Given the description of an element on the screen output the (x, y) to click on. 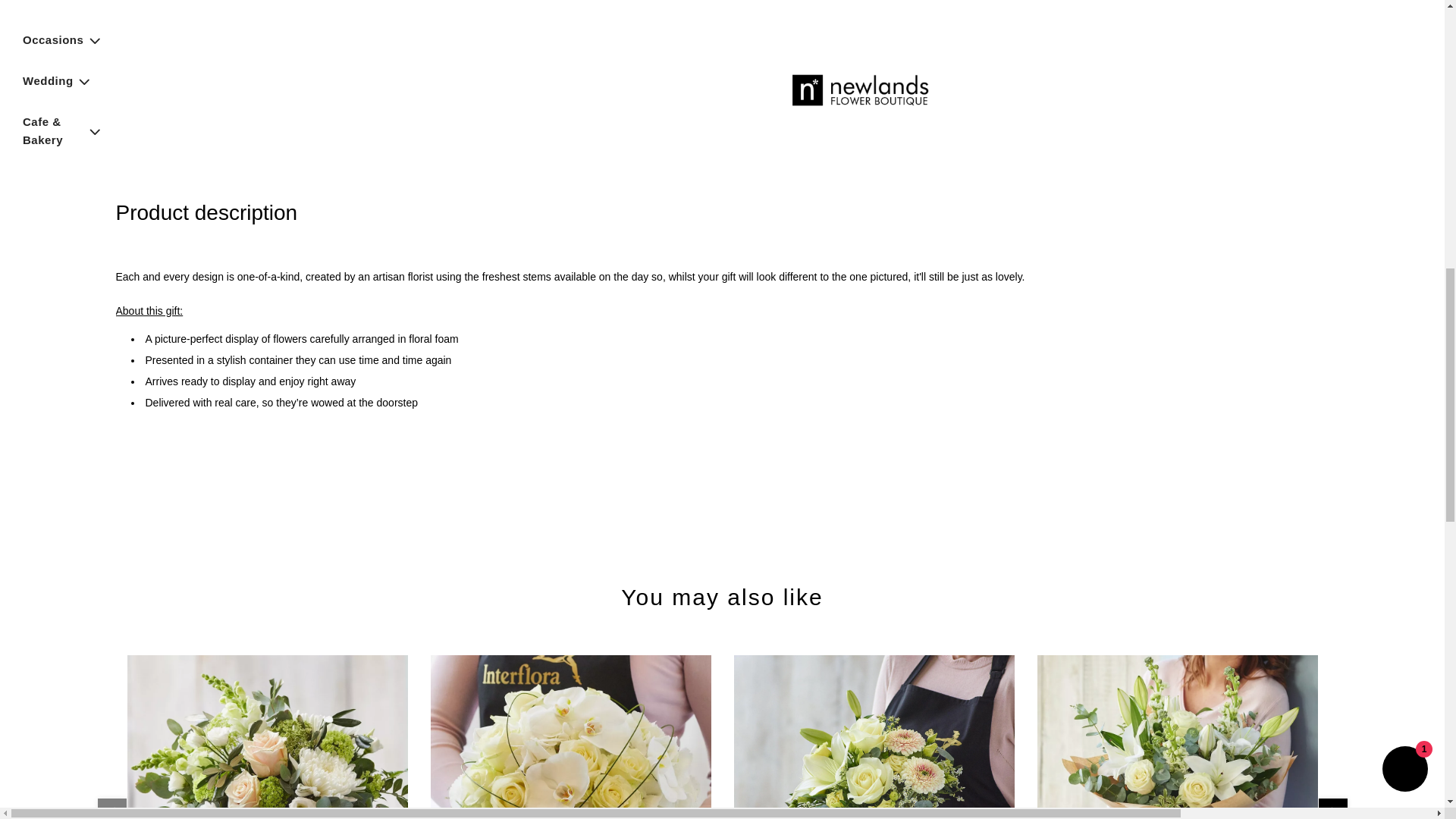
Arrangement made with the finest flowers (873, 737)
Arrangement made with the finest flowers (267, 737)
1 (796, 2)
White Rose and Lily Bouquet (1176, 737)
